Given the description of an element on the screen output the (x, y) to click on. 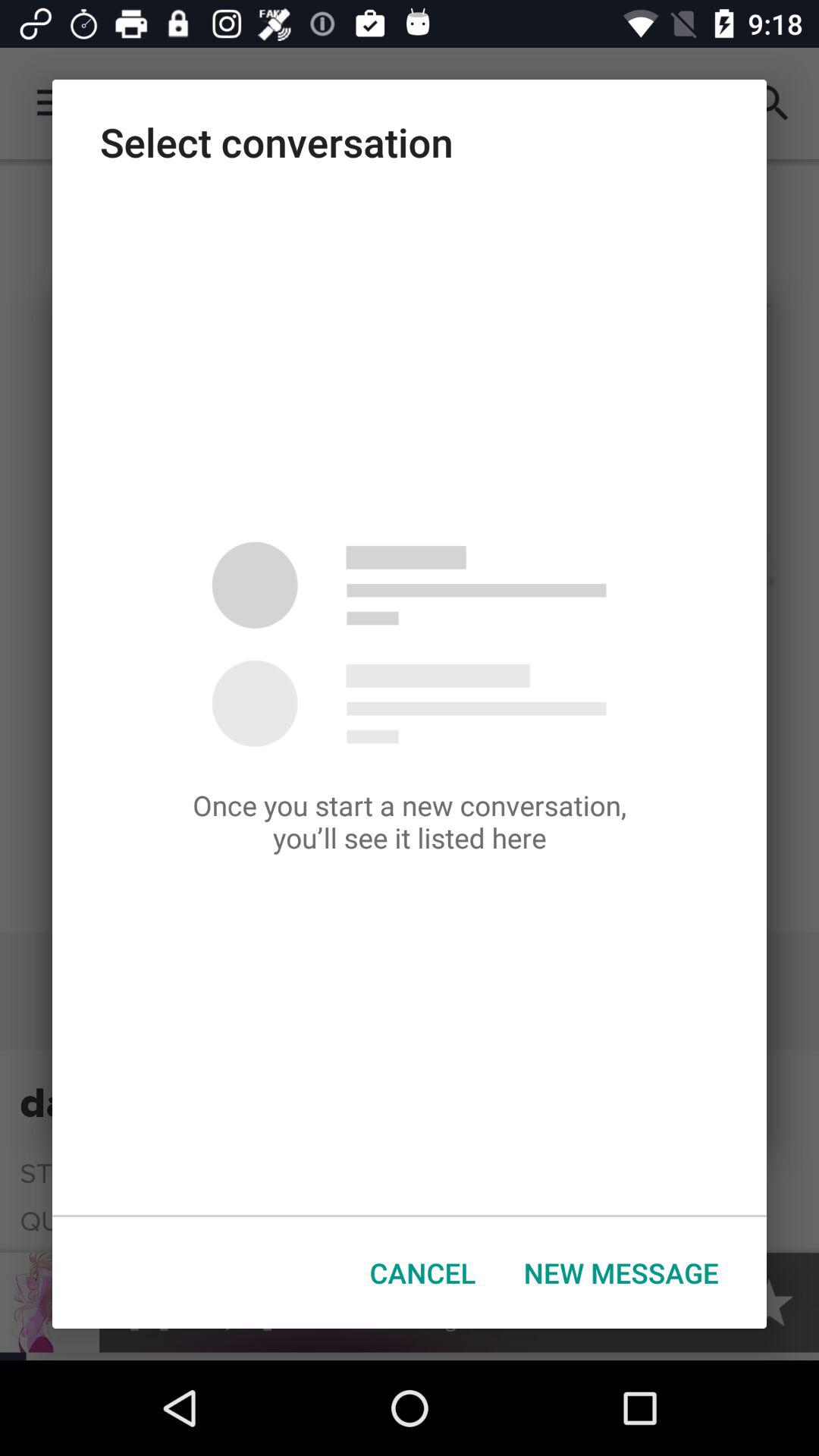
select new message button (620, 1272)
